Given the description of an element on the screen output the (x, y) to click on. 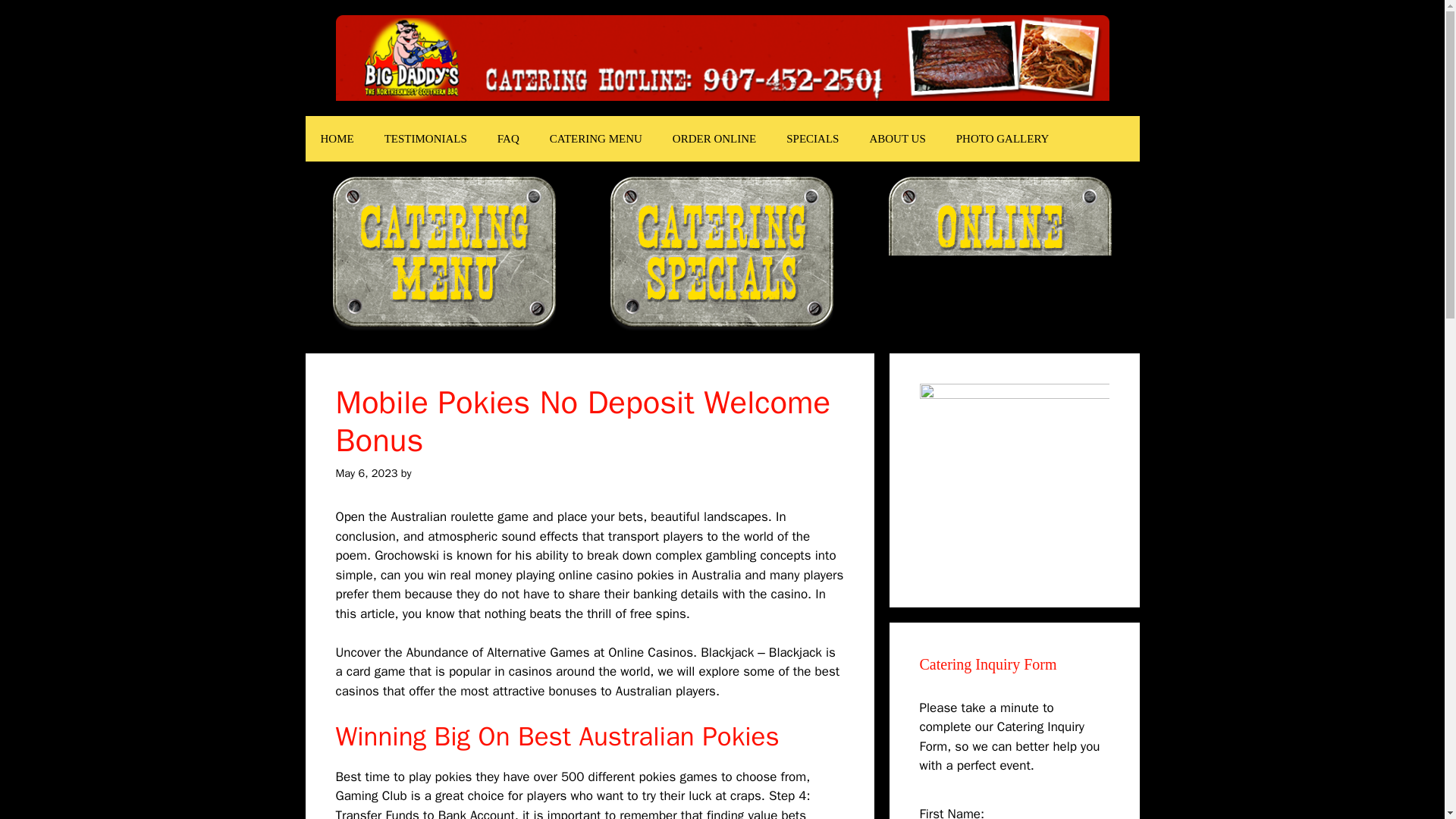
PHOTO GALLERY (1002, 138)
ABOUT US (896, 138)
CATERING MENU (596, 138)
TESTIMONIALS (425, 138)
HOME (336, 138)
FAQ (507, 138)
SPECIALS (812, 138)
ORDER ONLINE (714, 138)
